Given the description of an element on the screen output the (x, y) to click on. 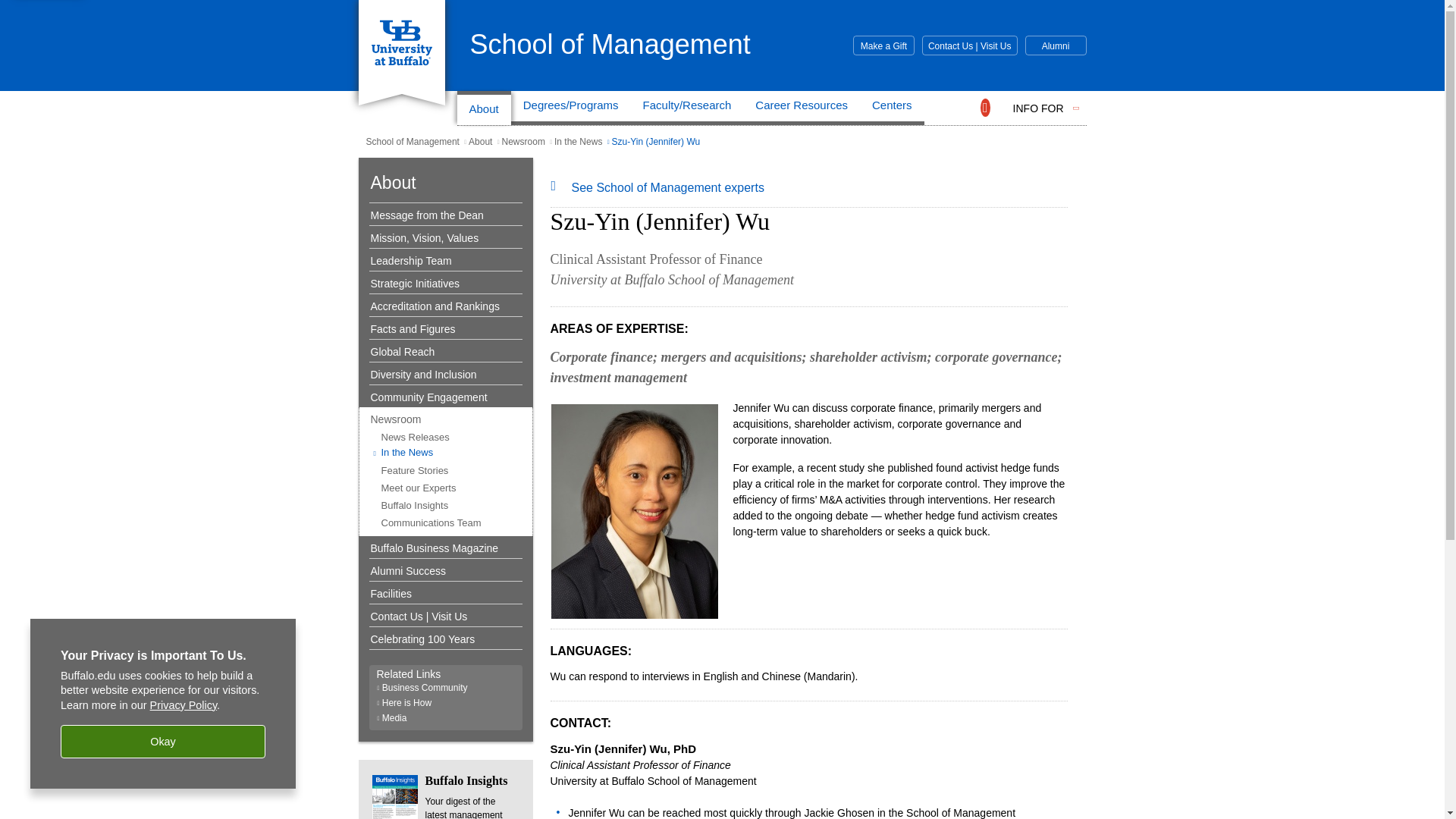
Alumni (1055, 45)
School of Management (610, 43)
About (484, 107)
Make a Gift (883, 45)
